Given the description of an element on the screen output the (x, y) to click on. 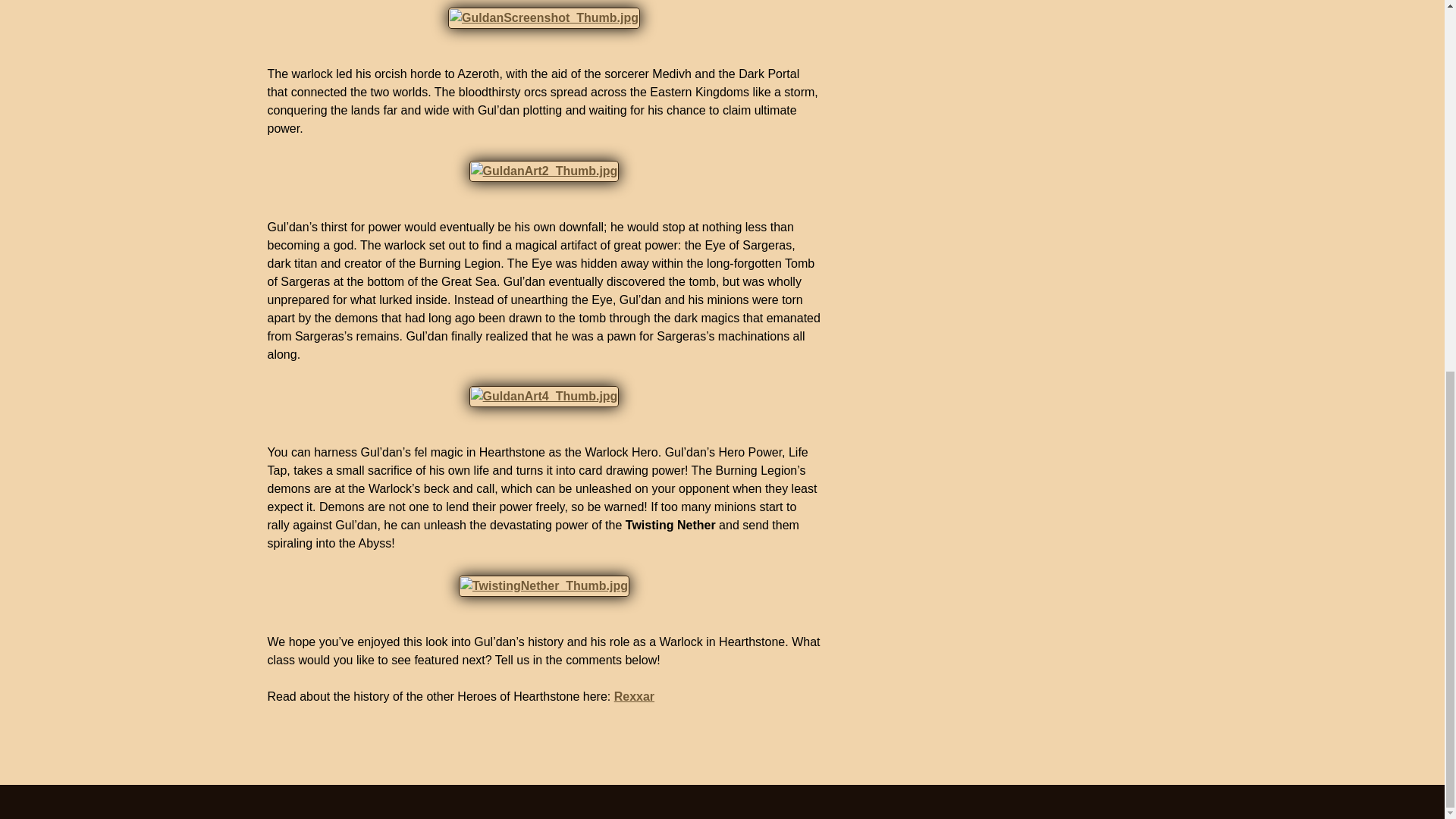
Rexxar (633, 696)
